Given the description of an element on the screen output the (x, y) to click on. 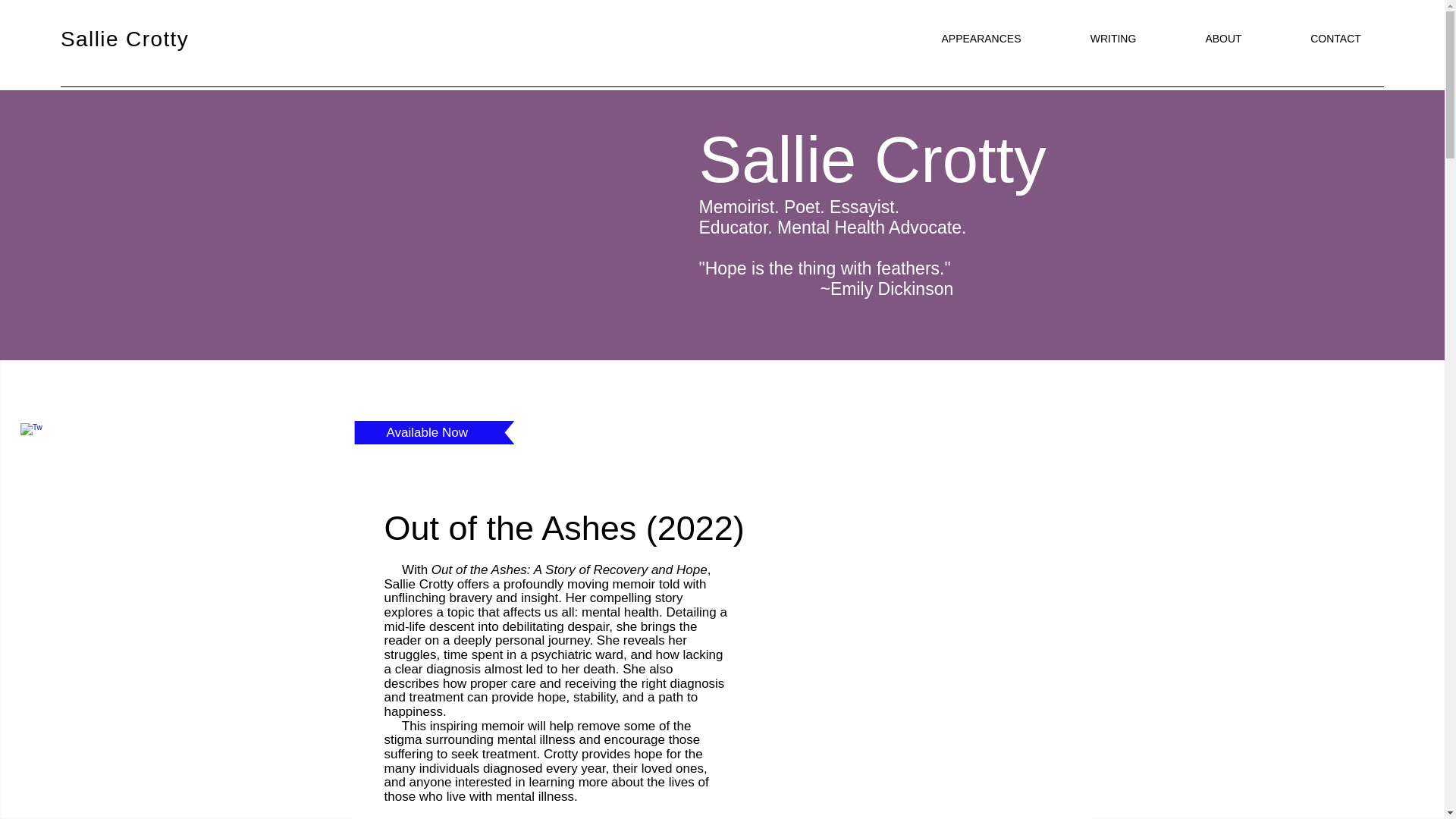
WRITING (1112, 38)
ABOUT (1223, 38)
CONTACT (1335, 38)
APPEARANCES (981, 38)
Sallie Crotty (125, 38)
